Given the description of an element on the screen output the (x, y) to click on. 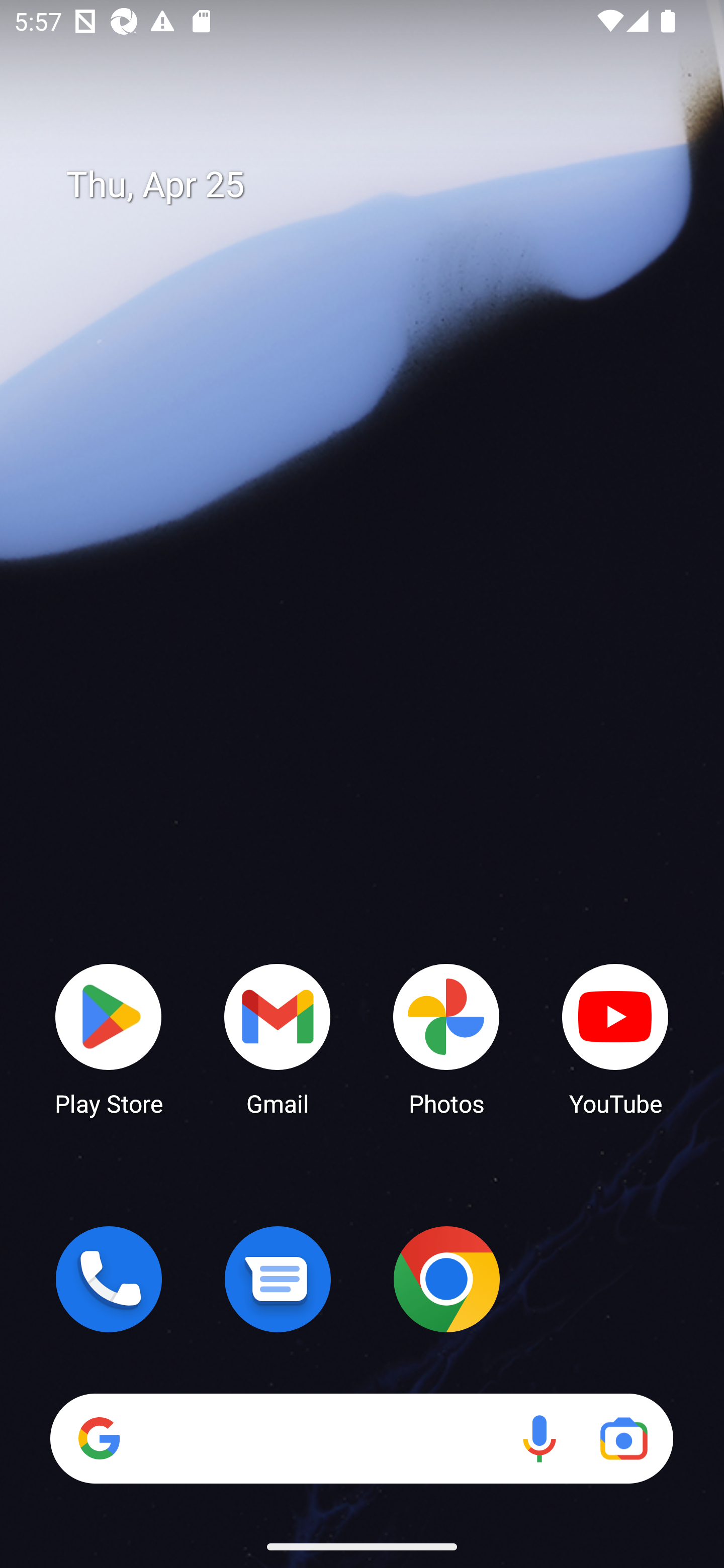
Thu, Apr 25 (375, 184)
Play Store (108, 1038)
Gmail (277, 1038)
Photos (445, 1038)
YouTube (615, 1038)
Phone (108, 1279)
Messages (277, 1279)
Chrome (446, 1279)
Search Voice search Google Lens (361, 1438)
Voice search (539, 1438)
Google Lens (623, 1438)
